Given the description of an element on the screen output the (x, y) to click on. 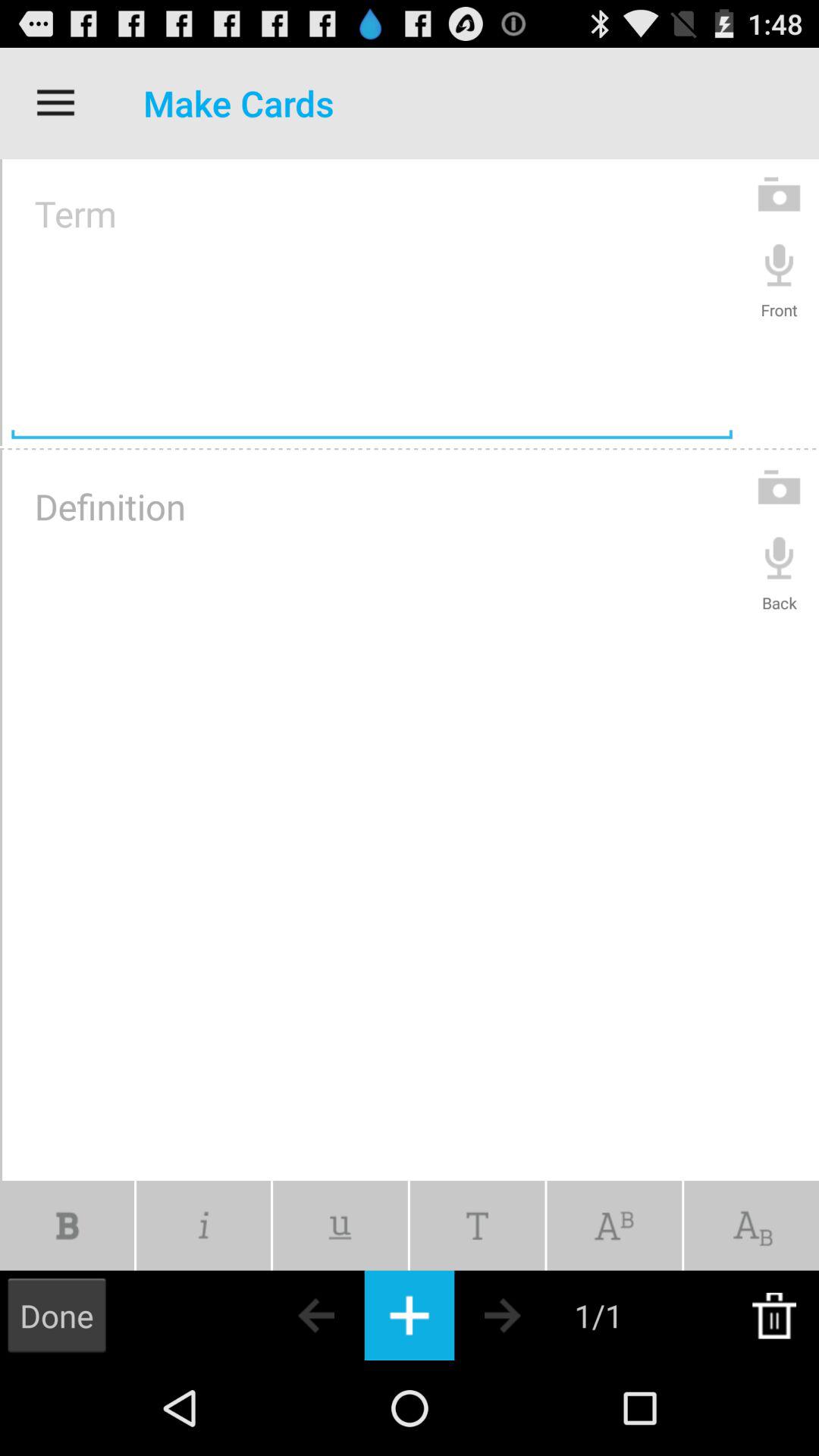
trash (774, 1315)
